Given the description of an element on the screen output the (x, y) to click on. 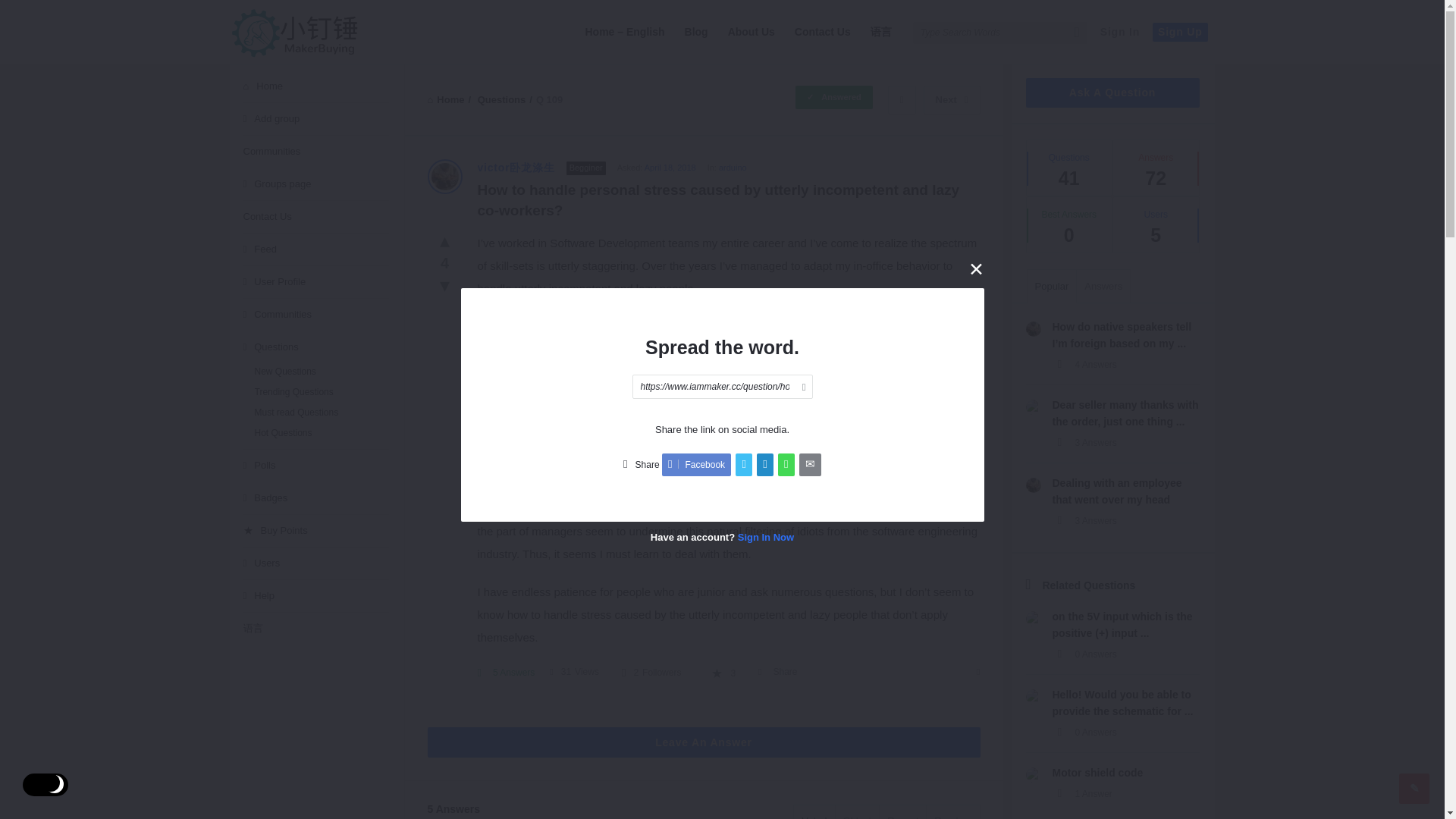
Blog (696, 32)
Sign In Now (765, 536)
Send an email (810, 464)
SINONING MakerBuying User World (304, 32)
SINONING MakerBuying User World (293, 33)
Sign In (1119, 31)
Home (446, 99)
Like (444, 240)
Add this question to favorites (723, 673)
About Us (751, 32)
Facebook (696, 464)
Questions (501, 99)
Sign Up (1180, 31)
Contact Us (823, 32)
Dislike (444, 284)
